Given the description of an element on the screen output the (x, y) to click on. 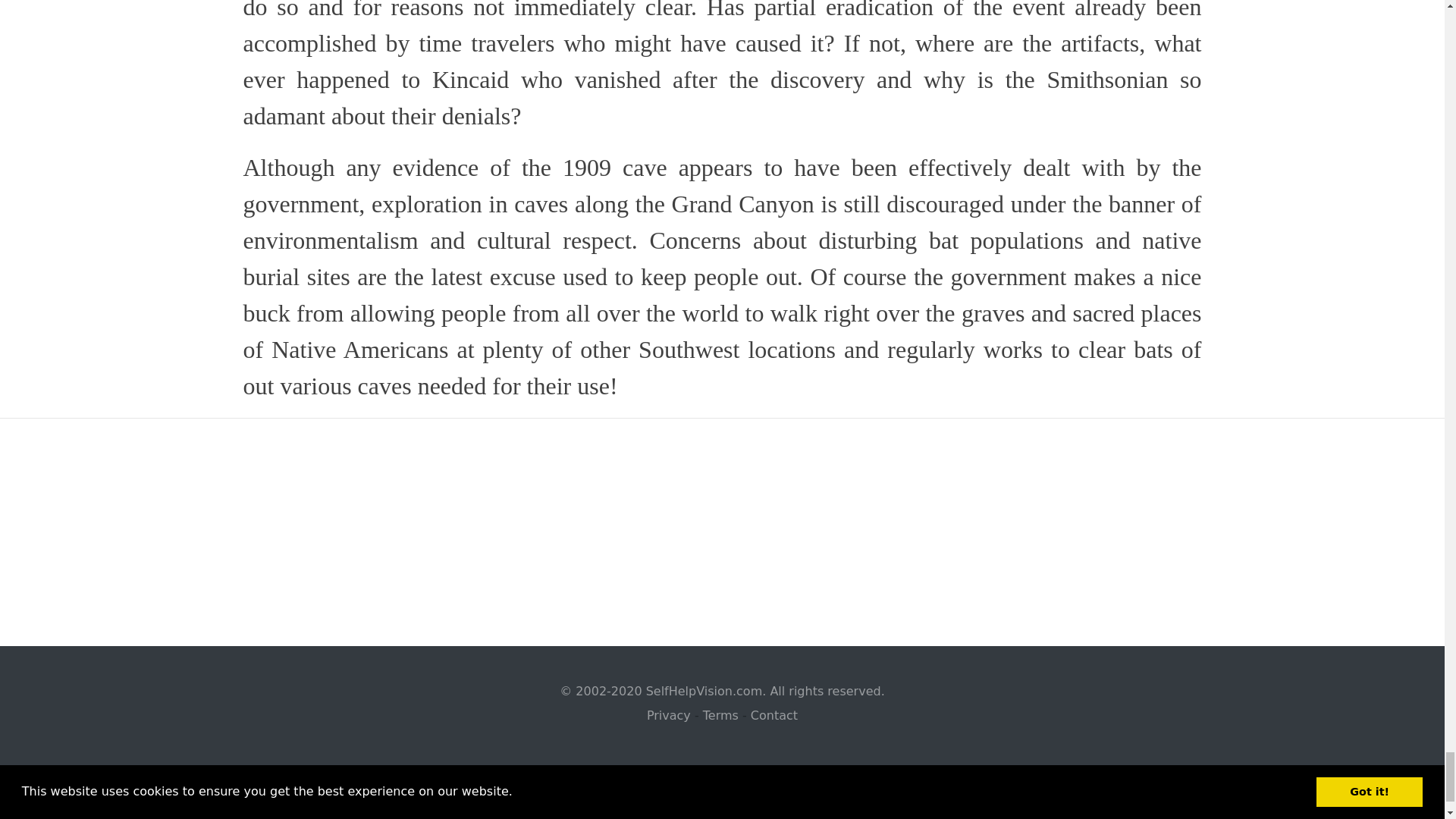
Contact (774, 715)
Privacy (668, 715)
Terms (720, 715)
